Given the description of an element on the screen output the (x, y) to click on. 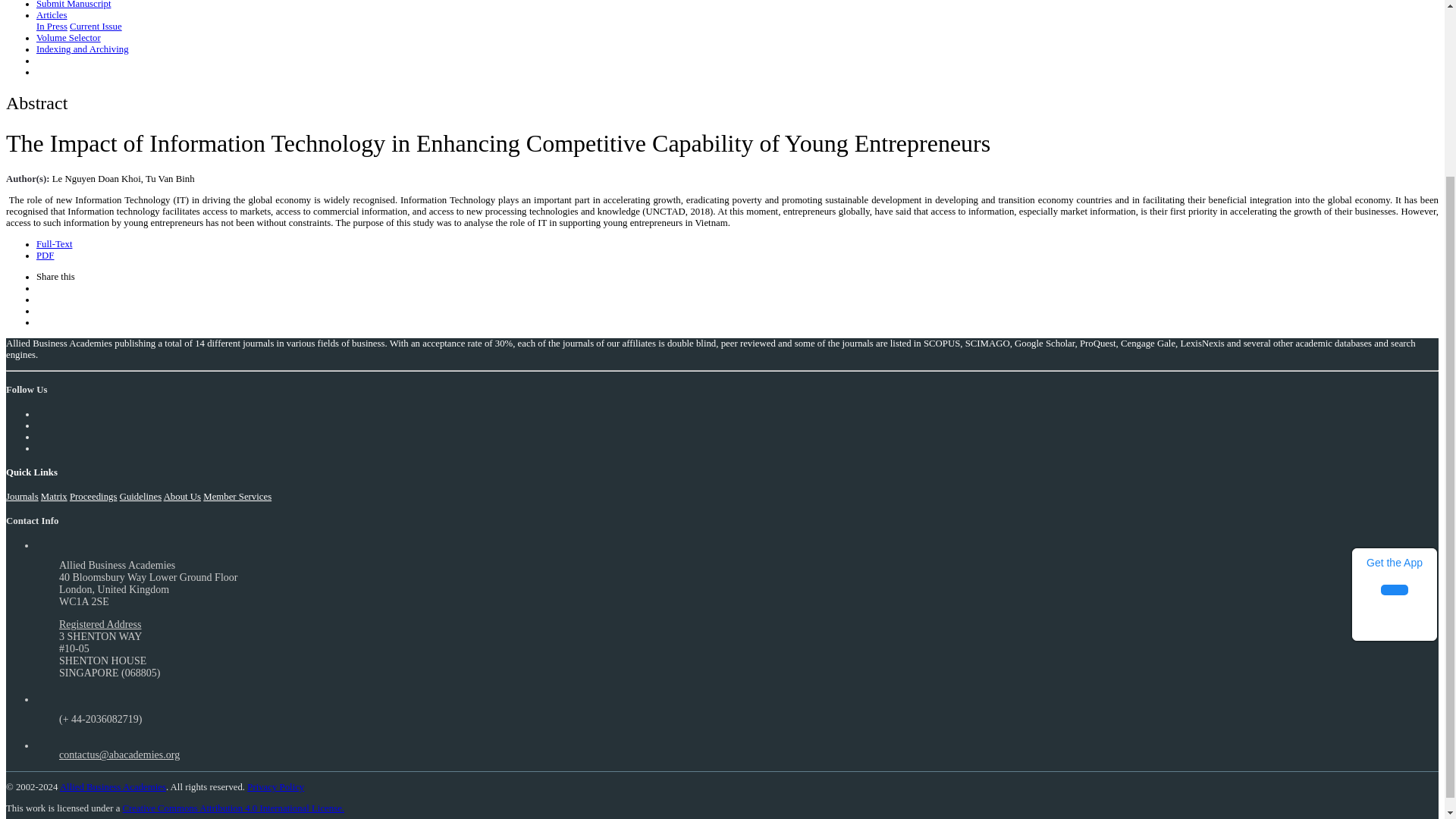
Full-Text (53, 244)
Submit Manuscript (73, 4)
In Press (51, 26)
Articles (51, 14)
Volume Selector (68, 37)
Current Issue (95, 26)
PDF (44, 255)
Indexing and Archiving (82, 49)
